Given the description of an element on the screen output the (x, y) to click on. 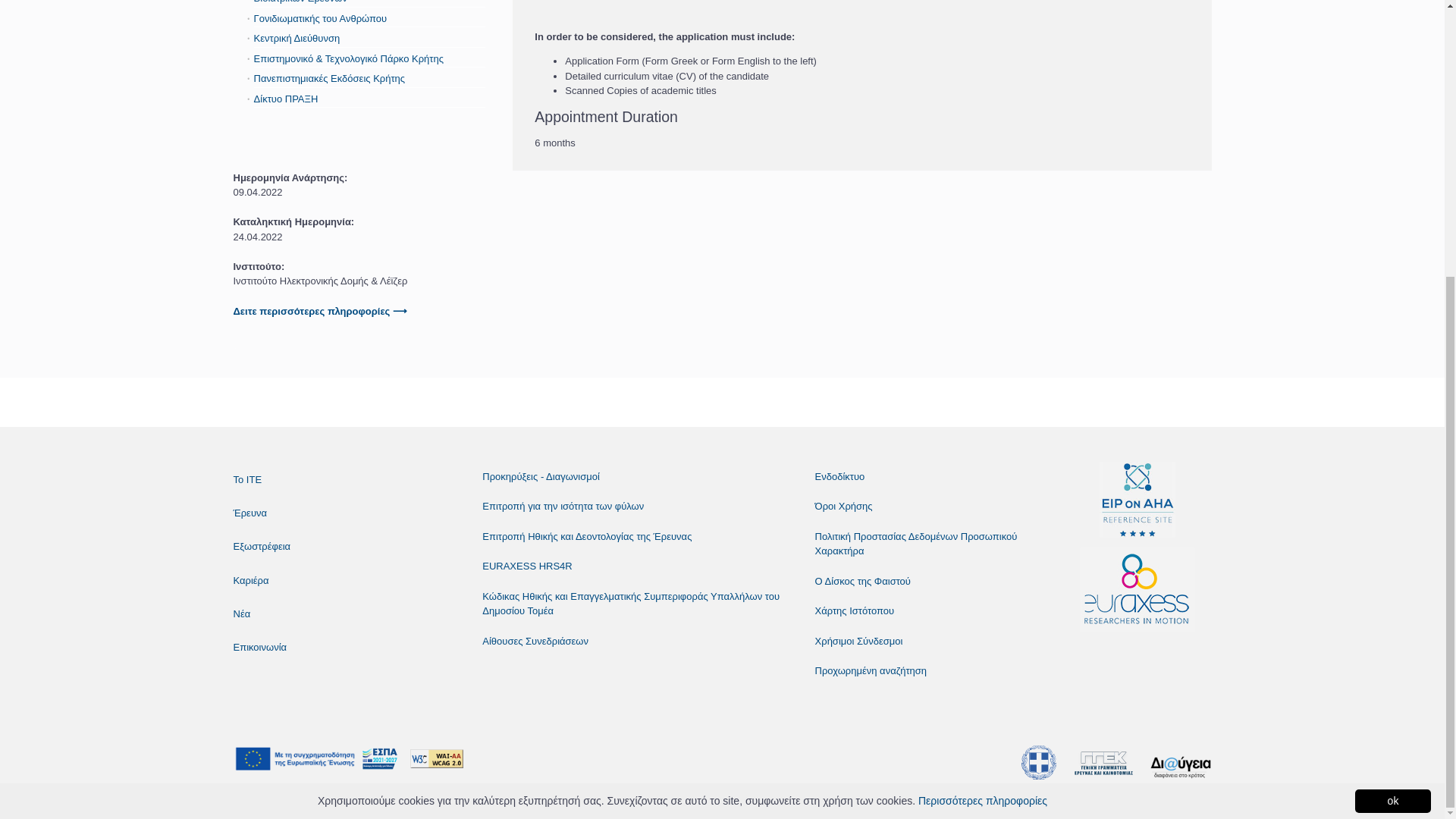
Explanation of WCAG 2 Level AA conformance (440, 757)
